Given the description of an element on the screen output the (x, y) to click on. 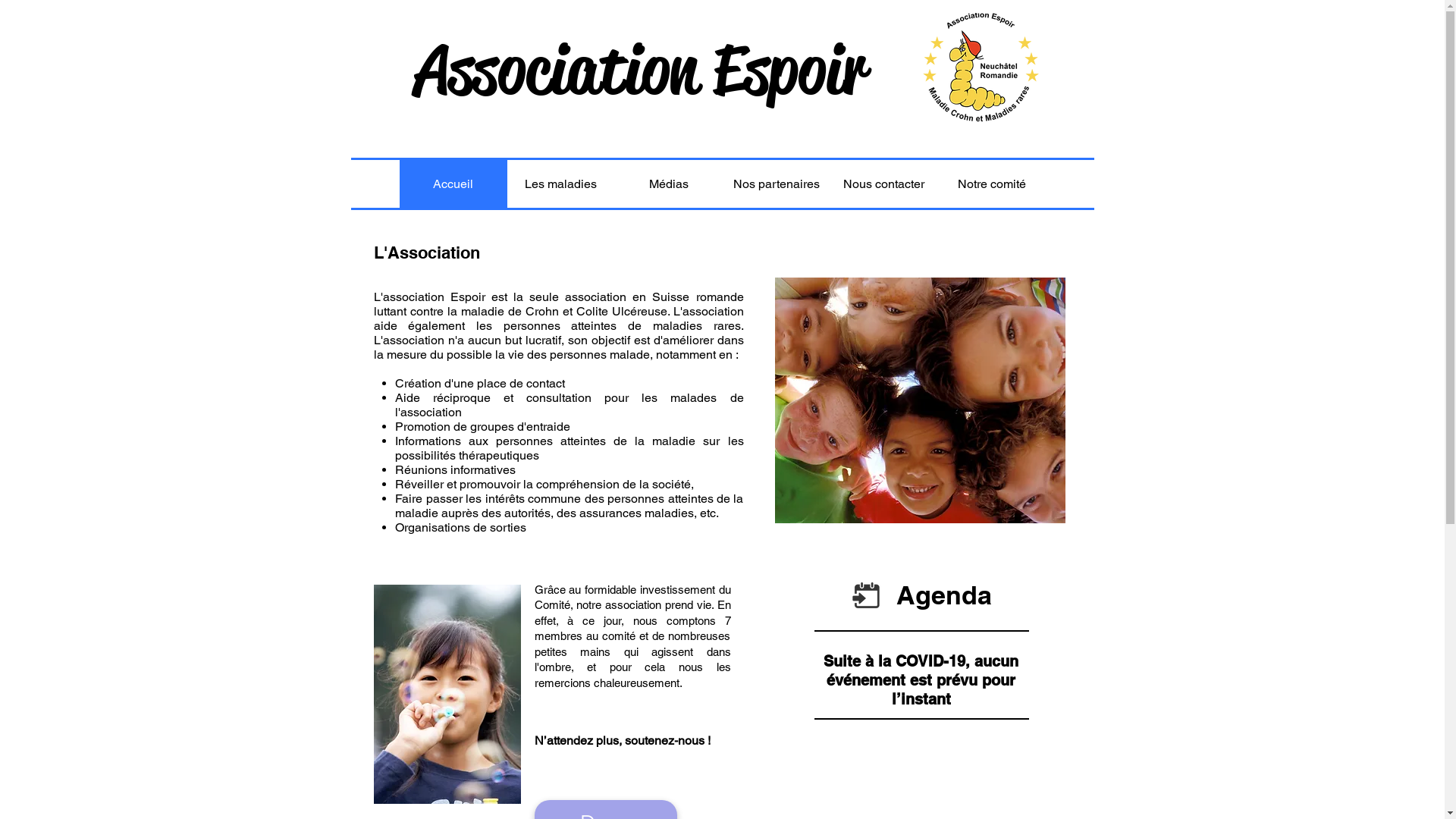
Nous contacter Element type: text (883, 183)
Nos partenaires Element type: text (775, 183)
Les maladies Element type: text (560, 183)
Fille bulles gonflant Element type: hover (446, 693)
Accueil Element type: text (452, 183)
